Given the description of an element on the screen output the (x, y) to click on. 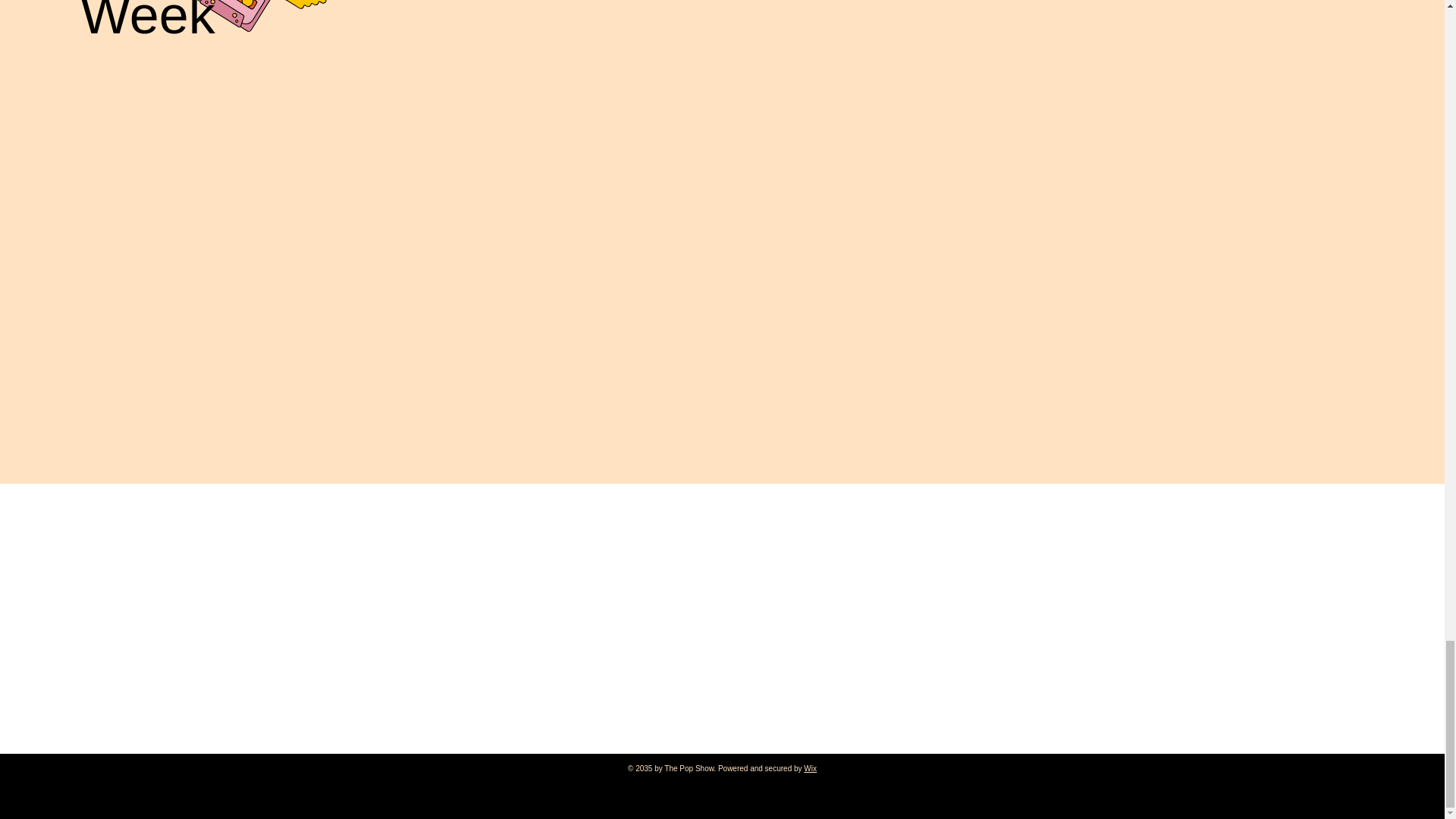
Week (147, 22)
